Given the description of an element on the screen output the (x, y) to click on. 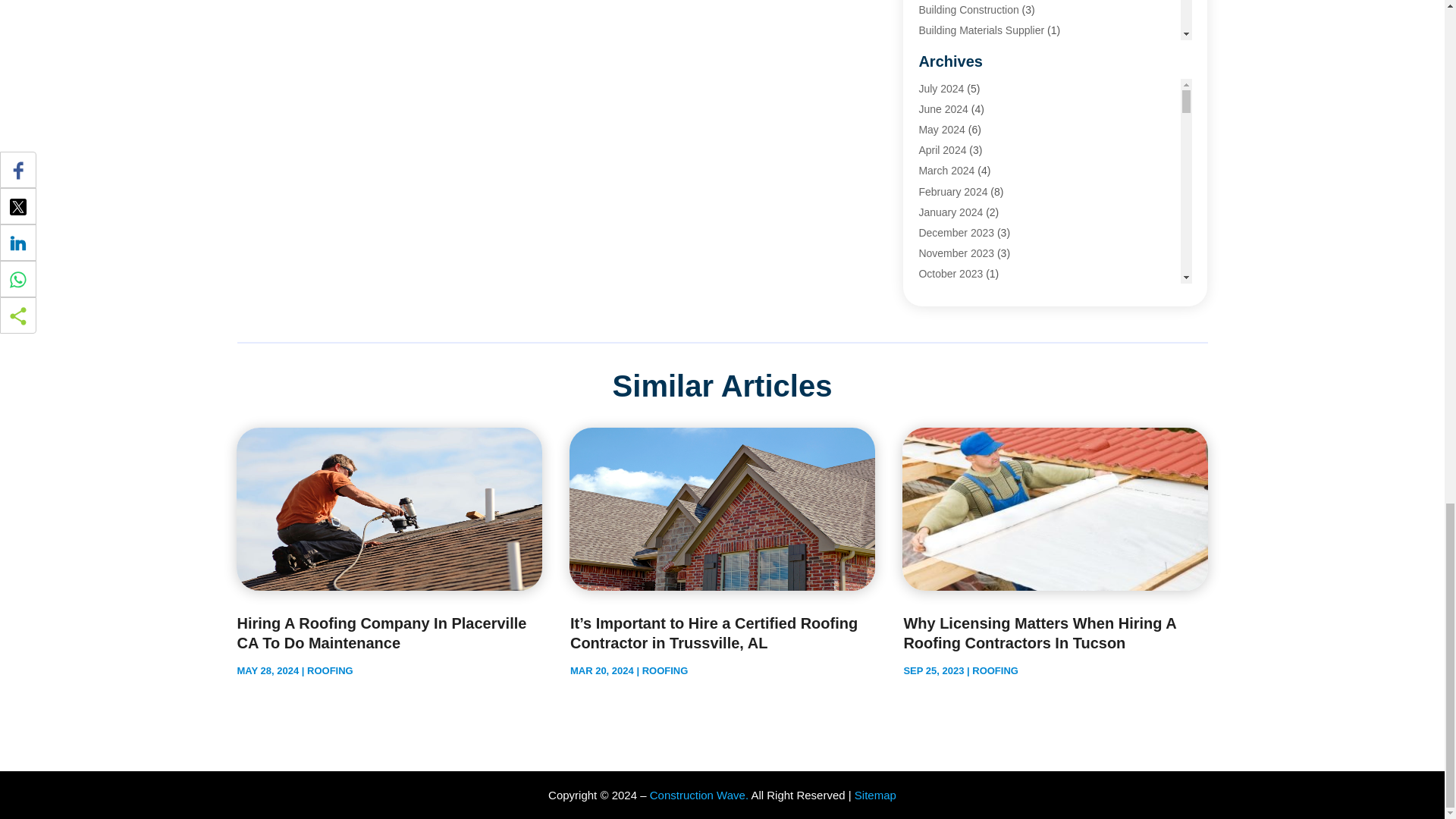
Cleaning (938, 92)
Concrete (939, 112)
Cemetery (940, 51)
Building Materials Supplier (980, 30)
Concrete Contractor (965, 133)
Building Construction (967, 9)
